Given the description of an element on the screen output the (x, y) to click on. 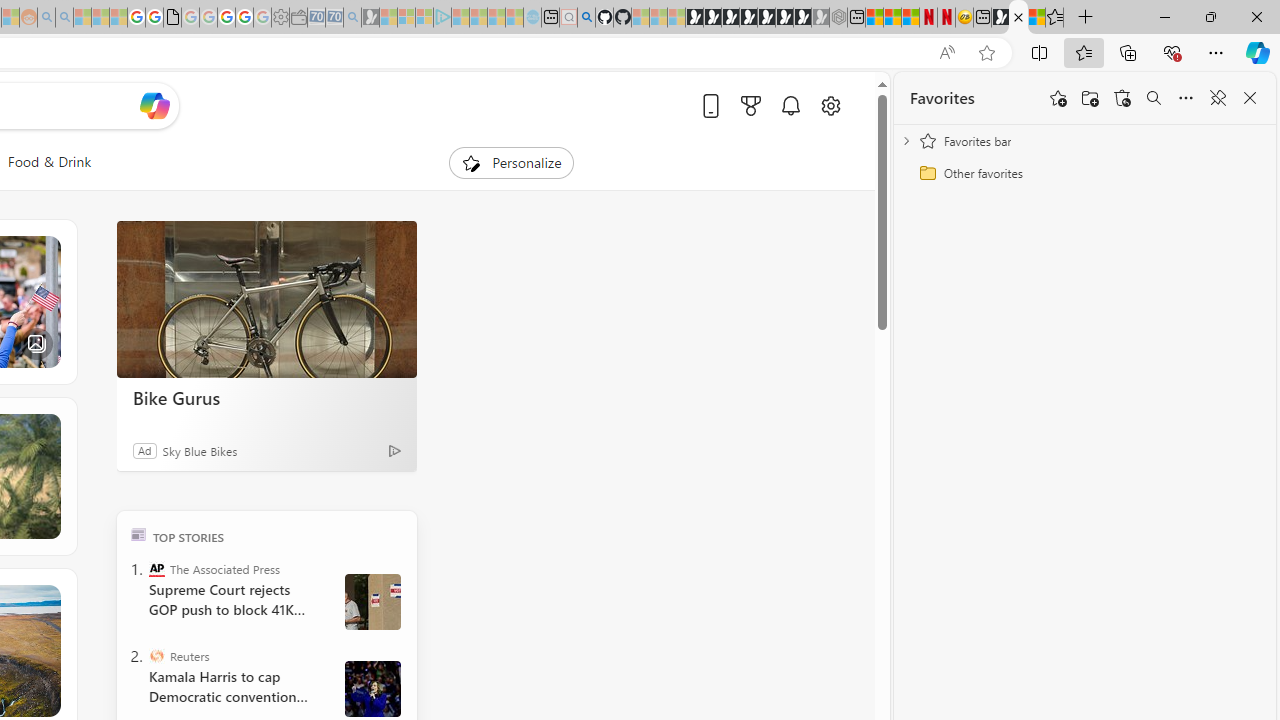
Close favorites (1250, 98)
Sky Blue Bikes (200, 450)
